Given the description of an element on the screen output the (x, y) to click on. 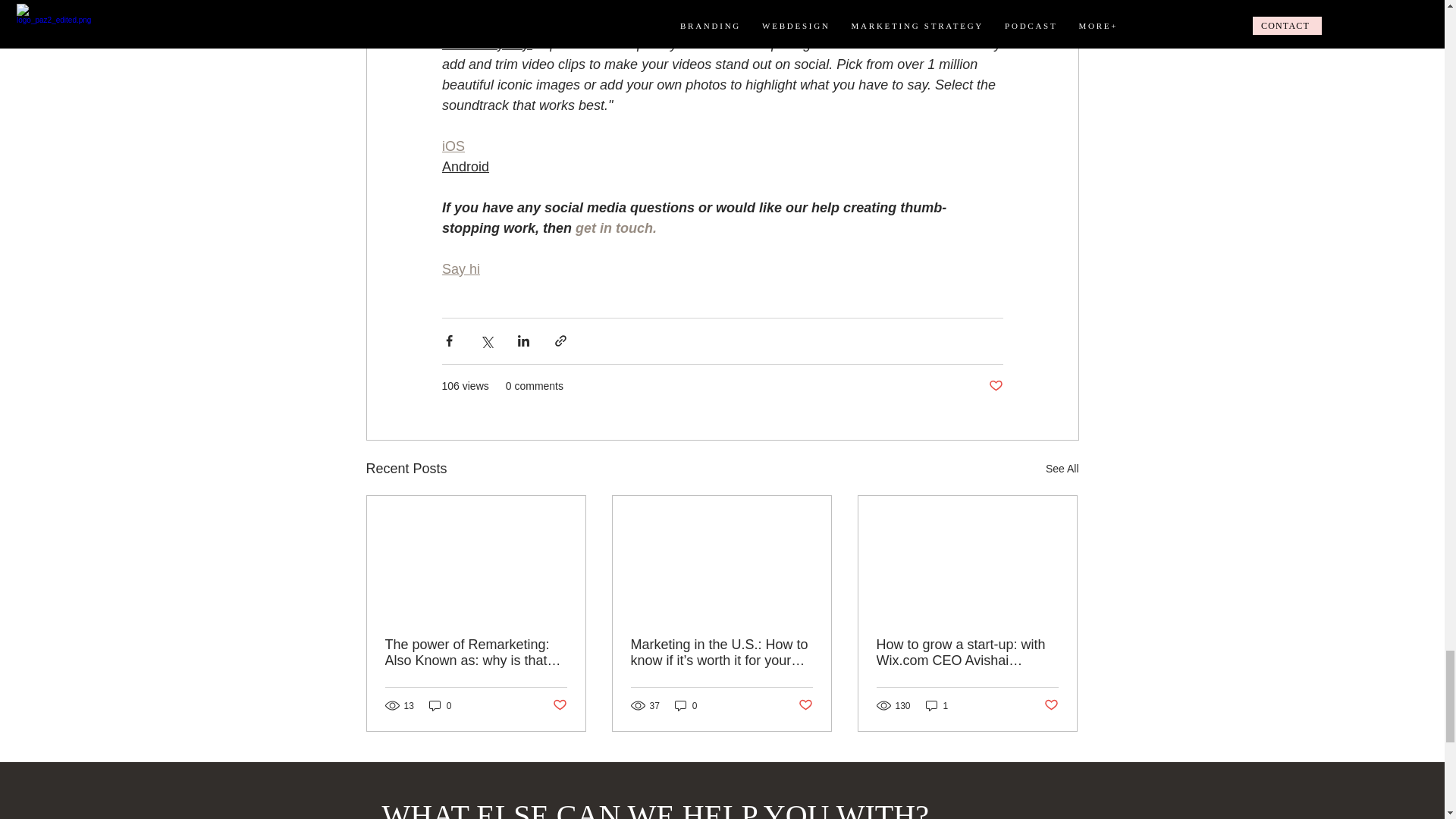
Say hi (460, 268)
See All (1061, 468)
Post not marked as liked (558, 705)
Post not marked as liked (995, 385)
0 (685, 705)
iOS (452, 145)
get in touch. (615, 227)
0 (440, 705)
